Given the description of an element on the screen output the (x, y) to click on. 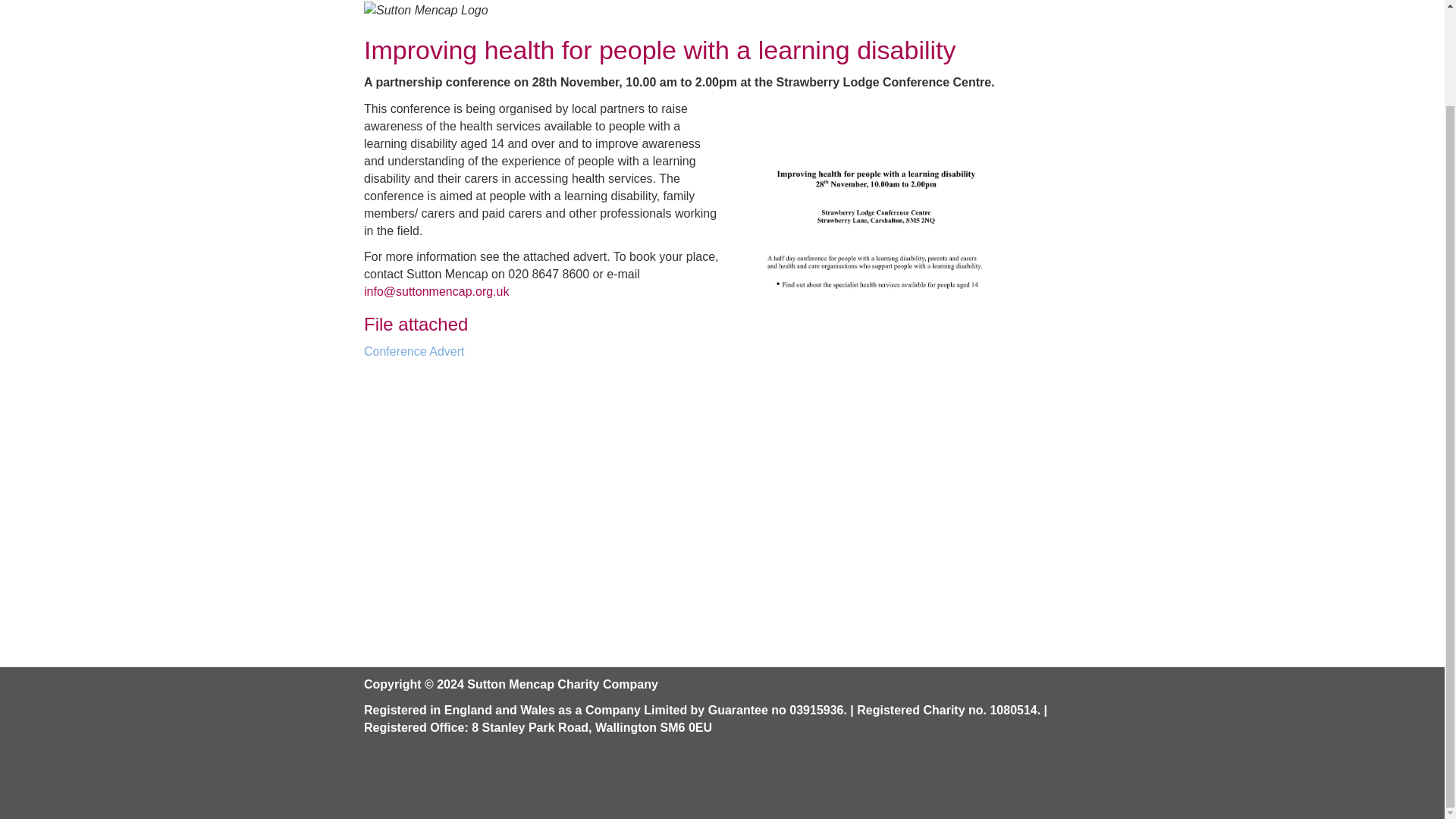
Conference Advert (901, 351)
